Given the description of an element on the screen output the (x, y) to click on. 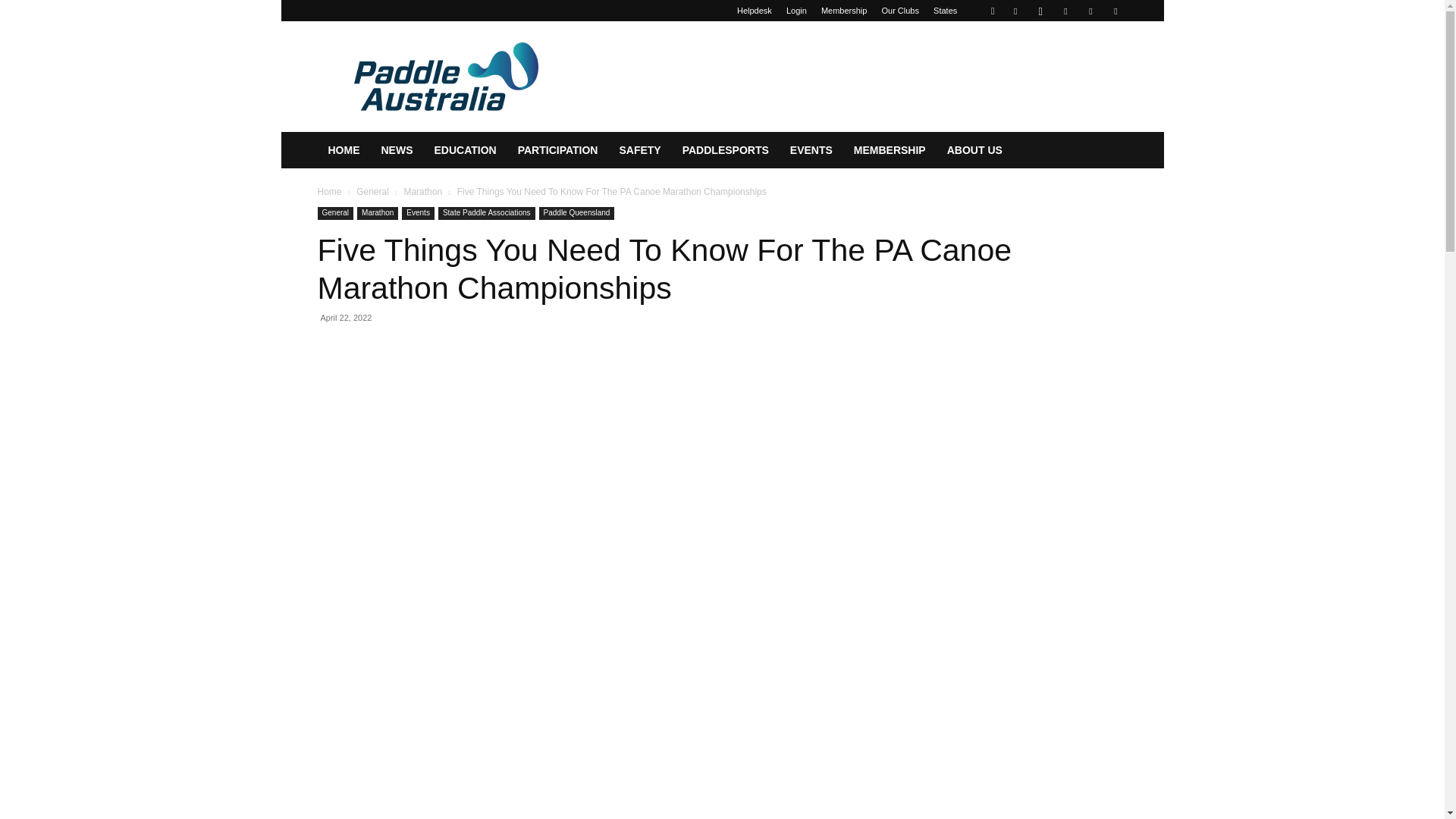
Youtube (1114, 10)
Linkedin (1065, 10)
Twitter (1090, 10)
Instagram (1040, 10)
Facebook (1015, 10)
